Given the description of an element on the screen output the (x, y) to click on. 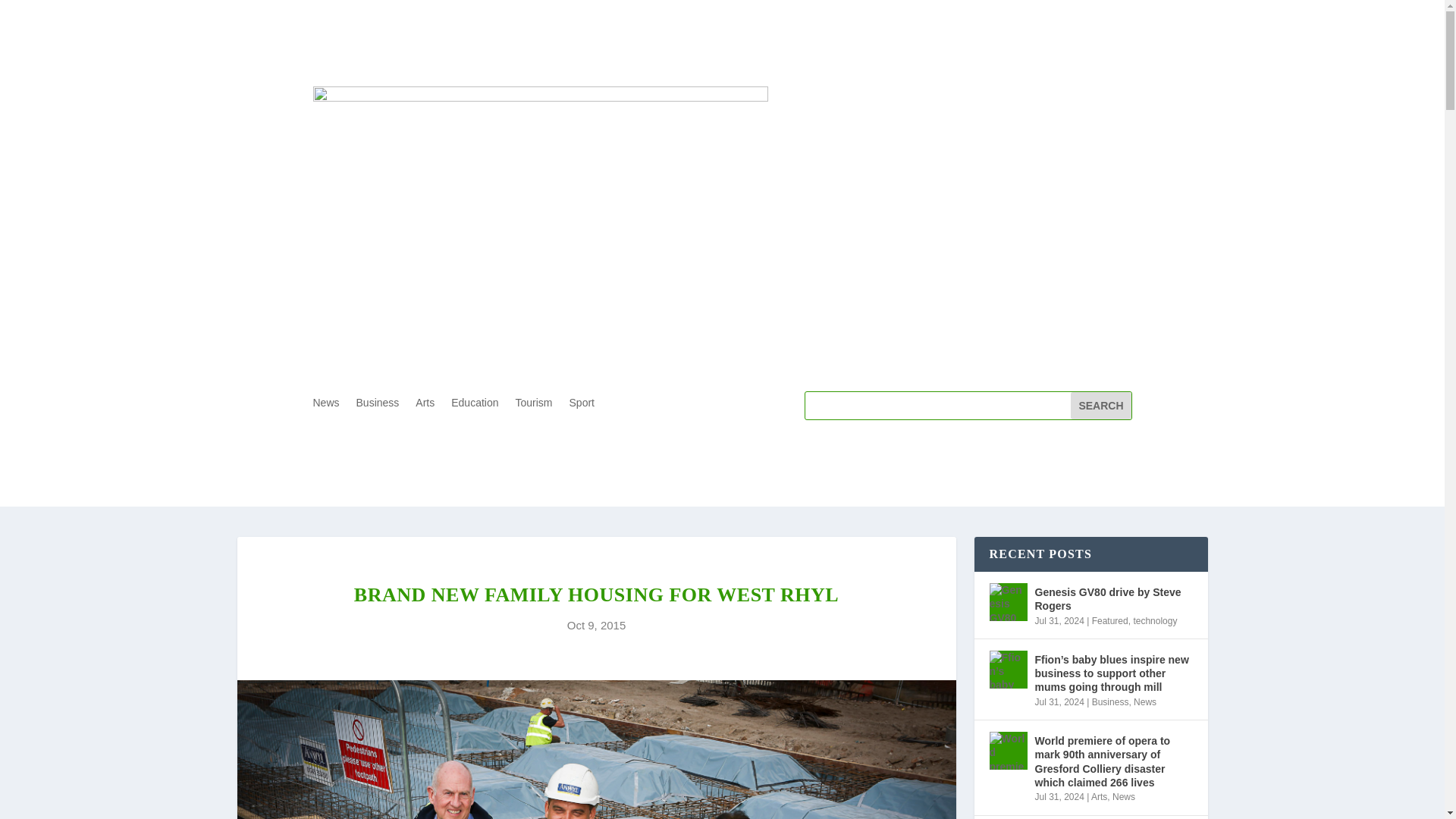
Sport (581, 405)
Search (1100, 405)
Search (1100, 405)
Arts (1098, 796)
Business (377, 405)
Tourism (534, 405)
Featured (1110, 620)
Business (1110, 701)
Genesis GV80 drive by Steve Rogers (1007, 601)
